Given the description of an element on the screen output the (x, y) to click on. 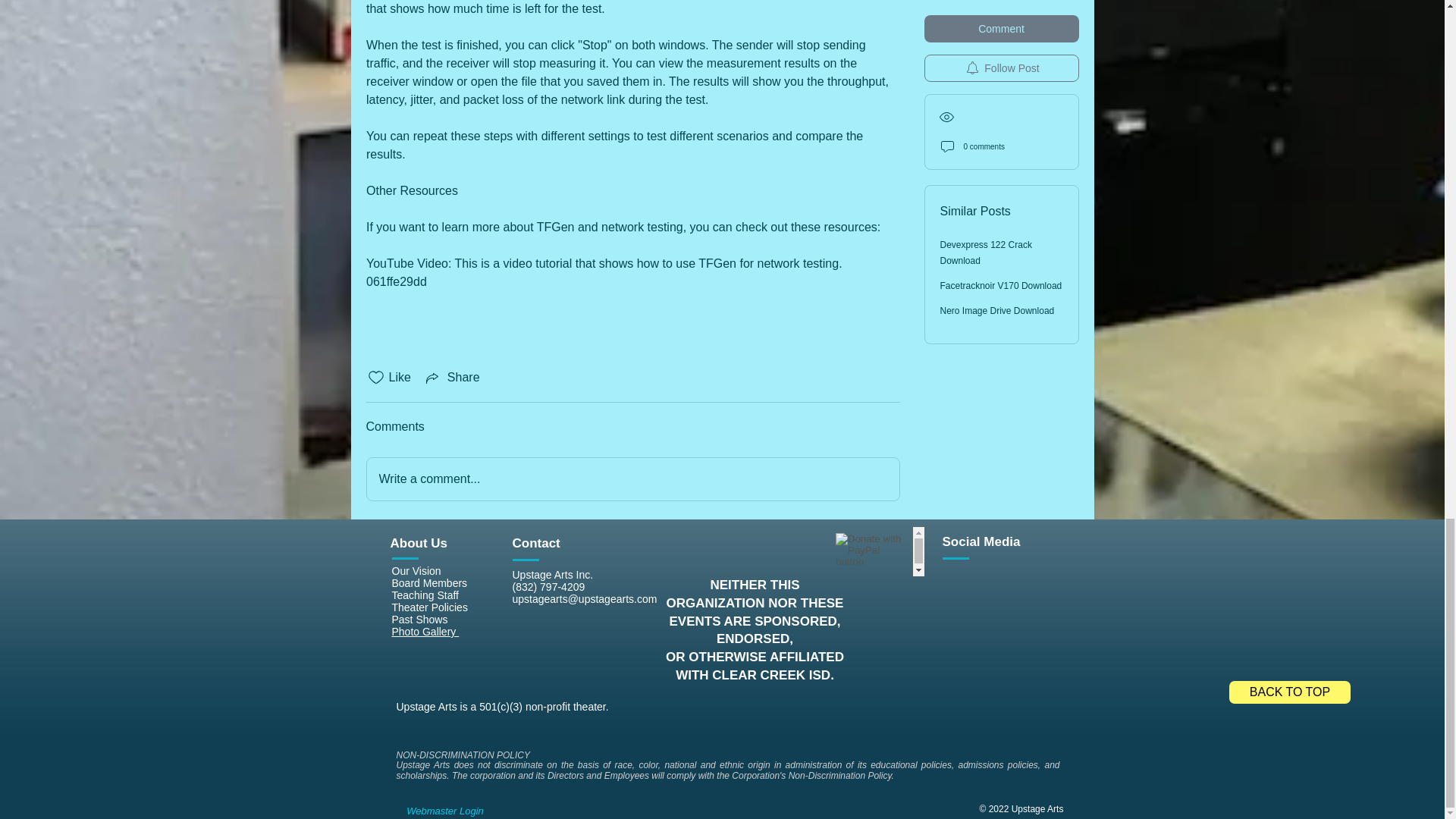
Write a comment... (632, 478)
Teaching Staff (424, 594)
Our Vision (416, 571)
Theater Policies (429, 607)
Share (451, 377)
Board Members (429, 582)
Embedded Content (876, 551)
Past Shows (418, 619)
Photo Gallery  (424, 631)
